Given the description of an element on the screen output the (x, y) to click on. 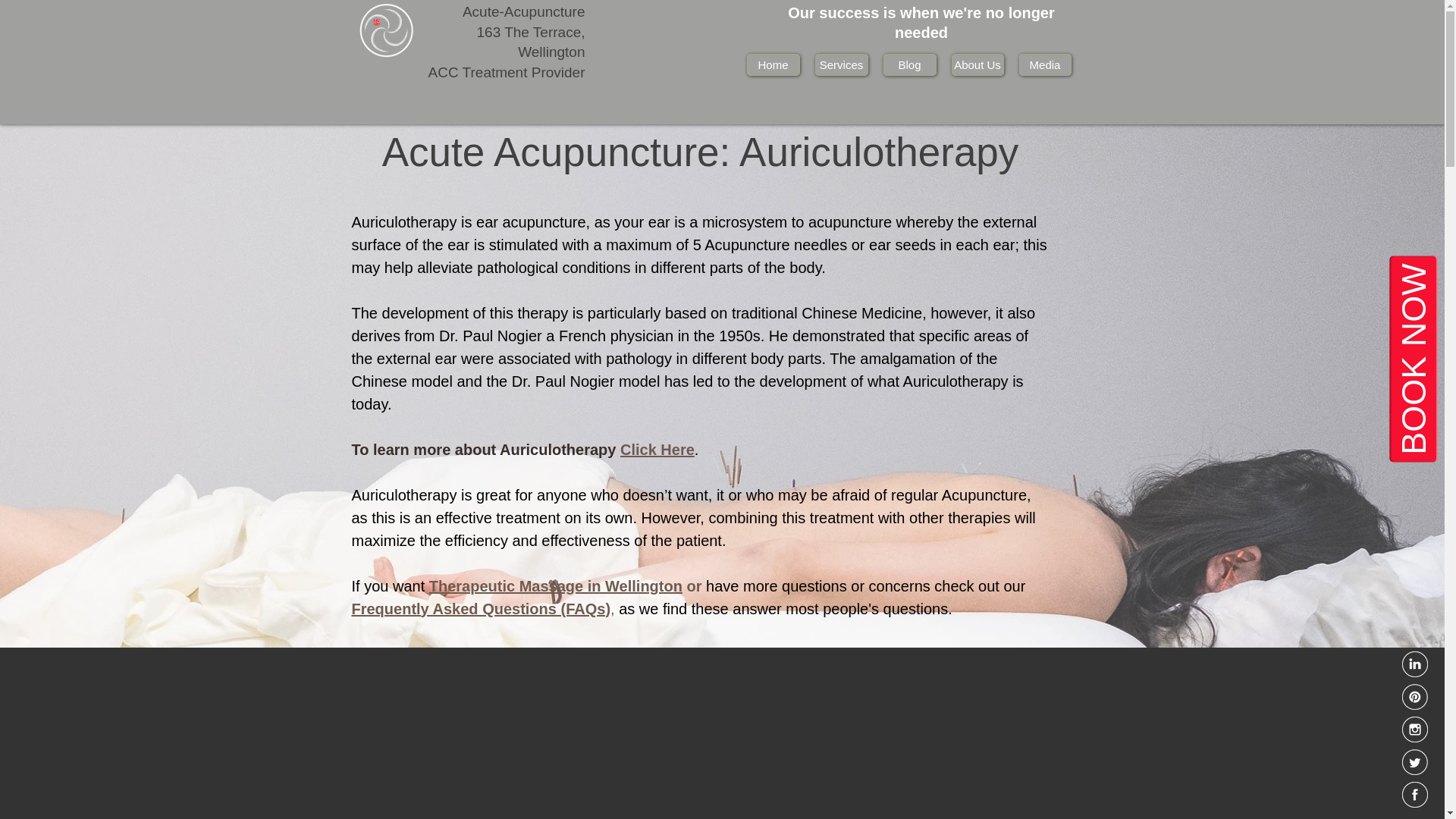
Blog (909, 65)
Services (840, 65)
herapeutic Massage in Wellington (560, 586)
Media (1045, 65)
Home (772, 65)
163 The Terrace, Wellington (531, 42)
Acute-Acupuncture (524, 11)
ACC Treatment Provider (506, 72)
 or  (694, 586)
Click Here (657, 449)
